Given the description of an element on the screen output the (x, y) to click on. 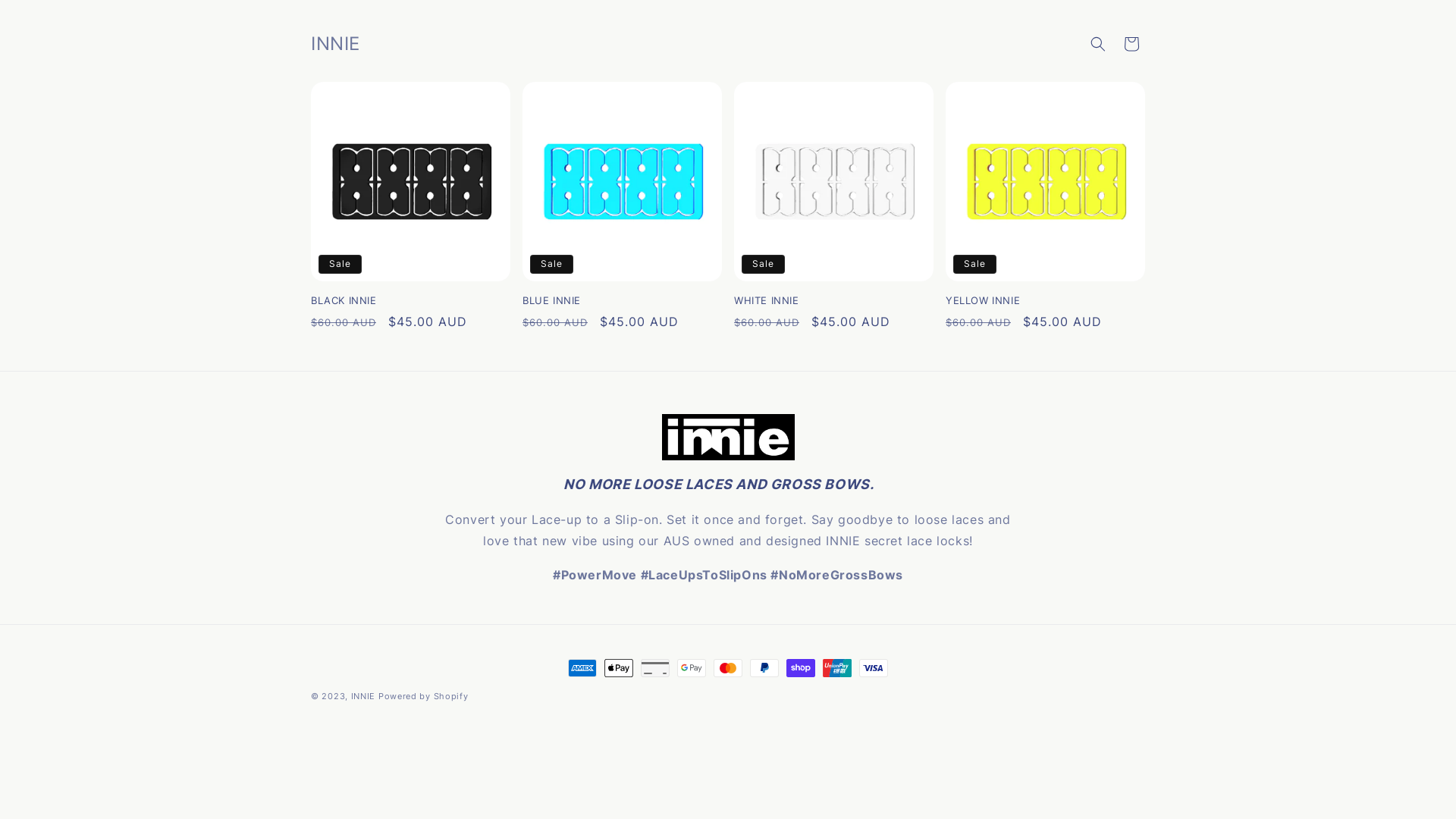
INNIE Element type: text (334, 43)
BLACK INNIE Element type: text (410, 300)
YELLOW INNIE Element type: text (1045, 300)
Powered by Shopify Element type: text (423, 695)
BLUE INNIE Element type: text (621, 300)
Cart Element type: text (1131, 43)
WHITE INNIE Element type: text (833, 300)
INNIE Element type: text (363, 695)
